Given the description of an element on the screen output the (x, y) to click on. 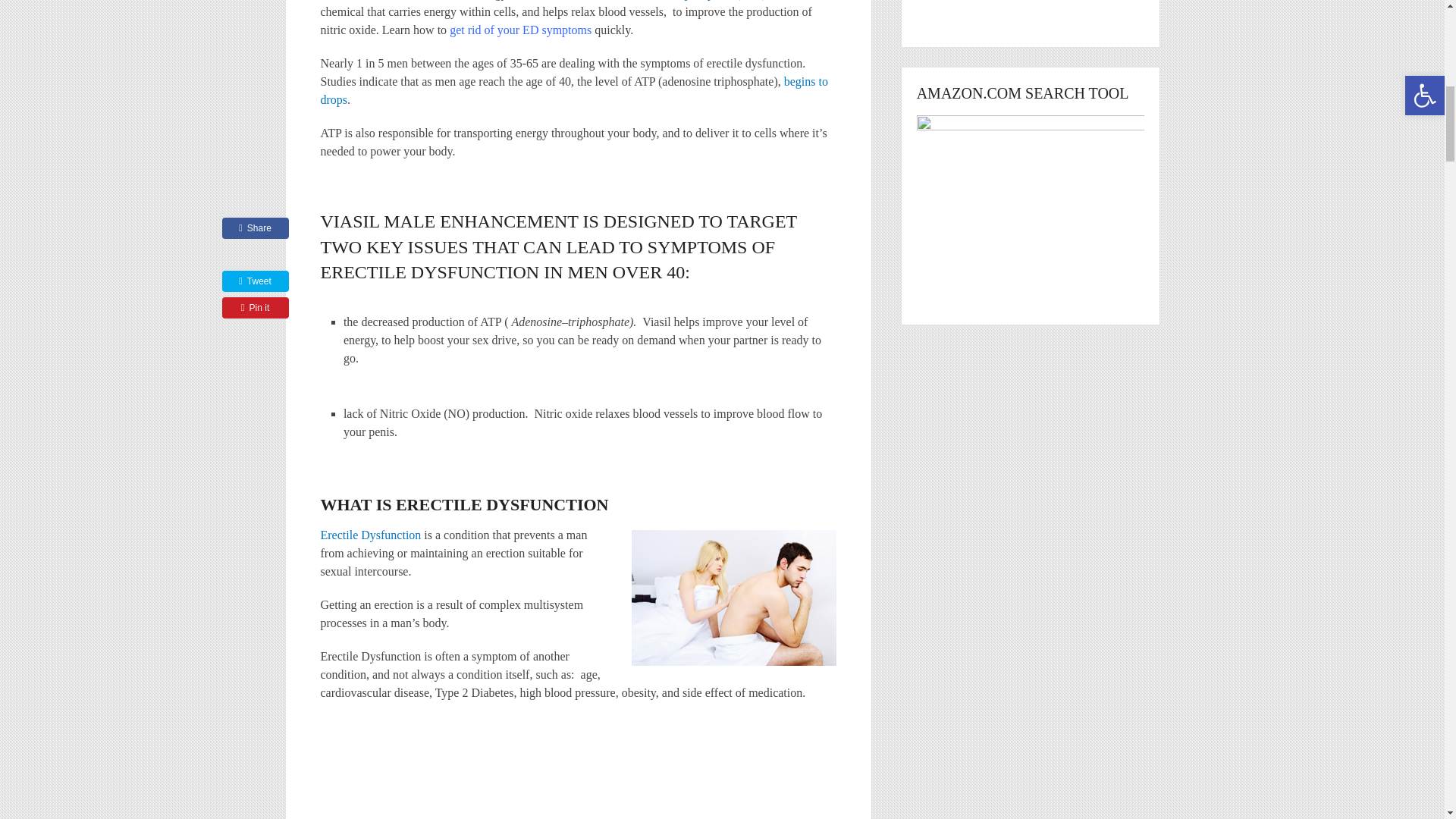
Viasil (732, 597)
get rid of your ED symptoms (520, 29)
begins to drops (573, 90)
Erectile Dysfunction (370, 534)
